Given the description of an element on the screen output the (x, y) to click on. 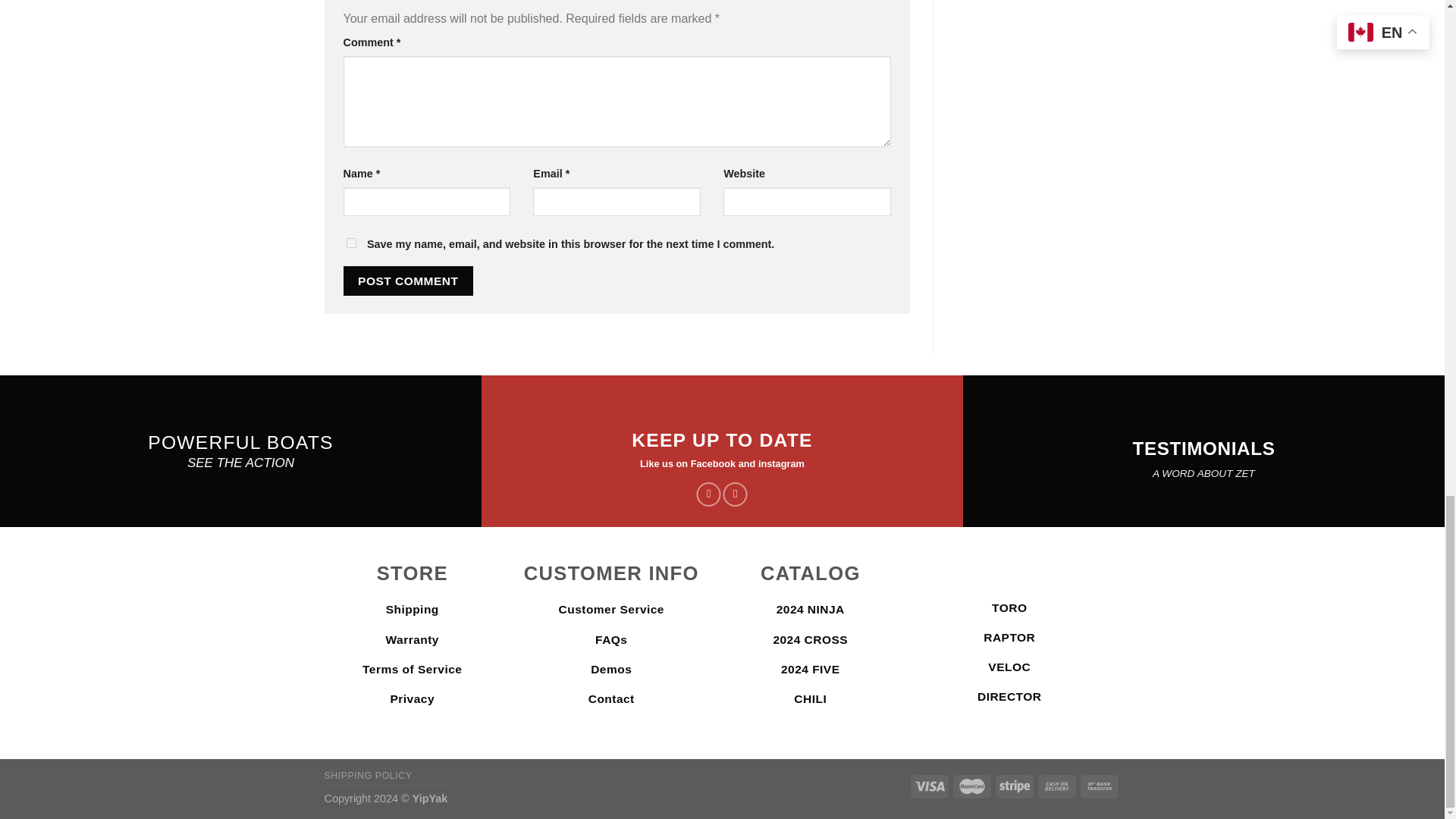
Post Comment (407, 280)
yes (350, 243)
Post Comment (407, 280)
